Given the description of an element on the screen output the (x, y) to click on. 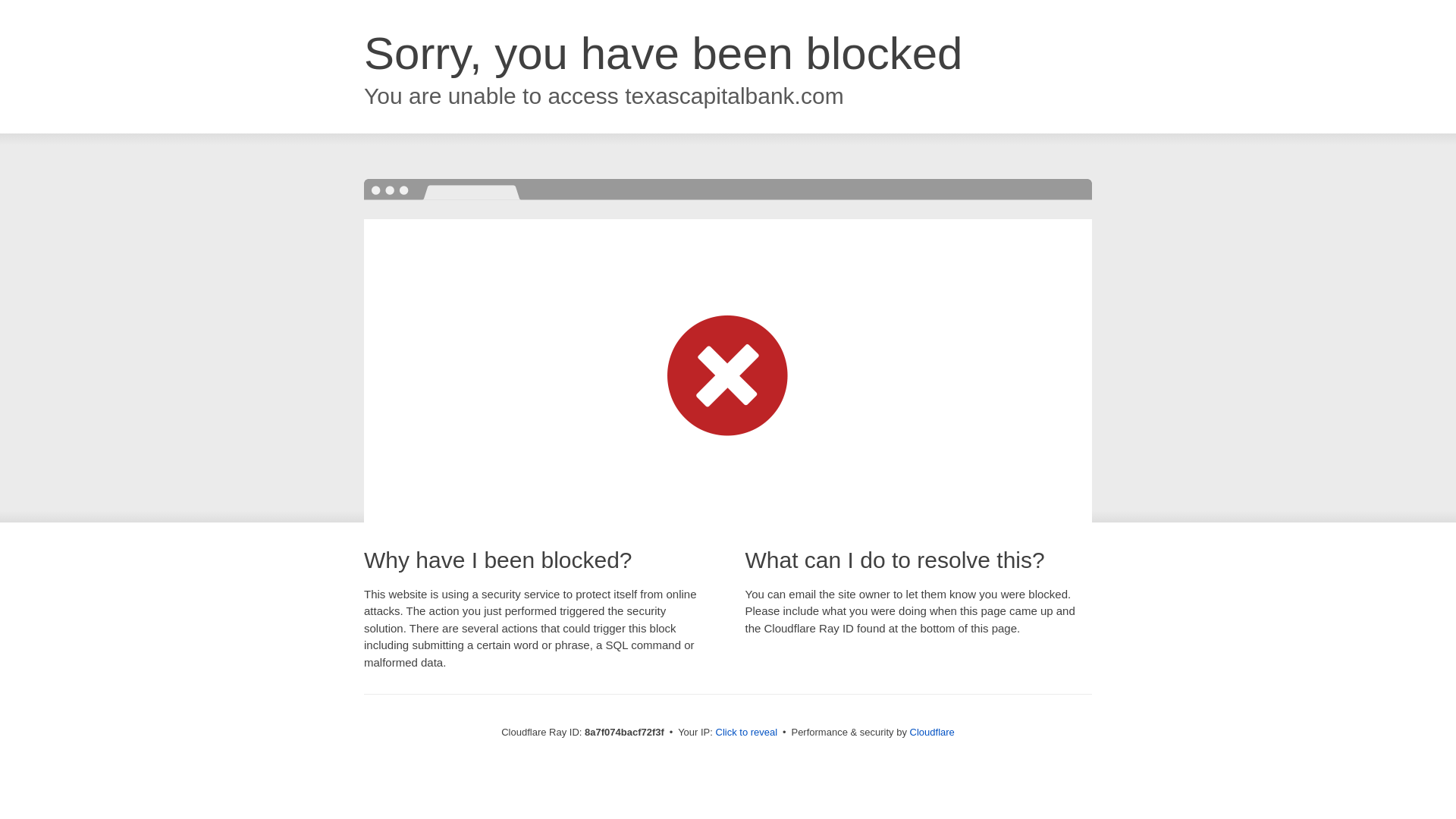
Click to reveal (746, 732)
Cloudflare (932, 731)
